Given the description of an element on the screen output the (x, y) to click on. 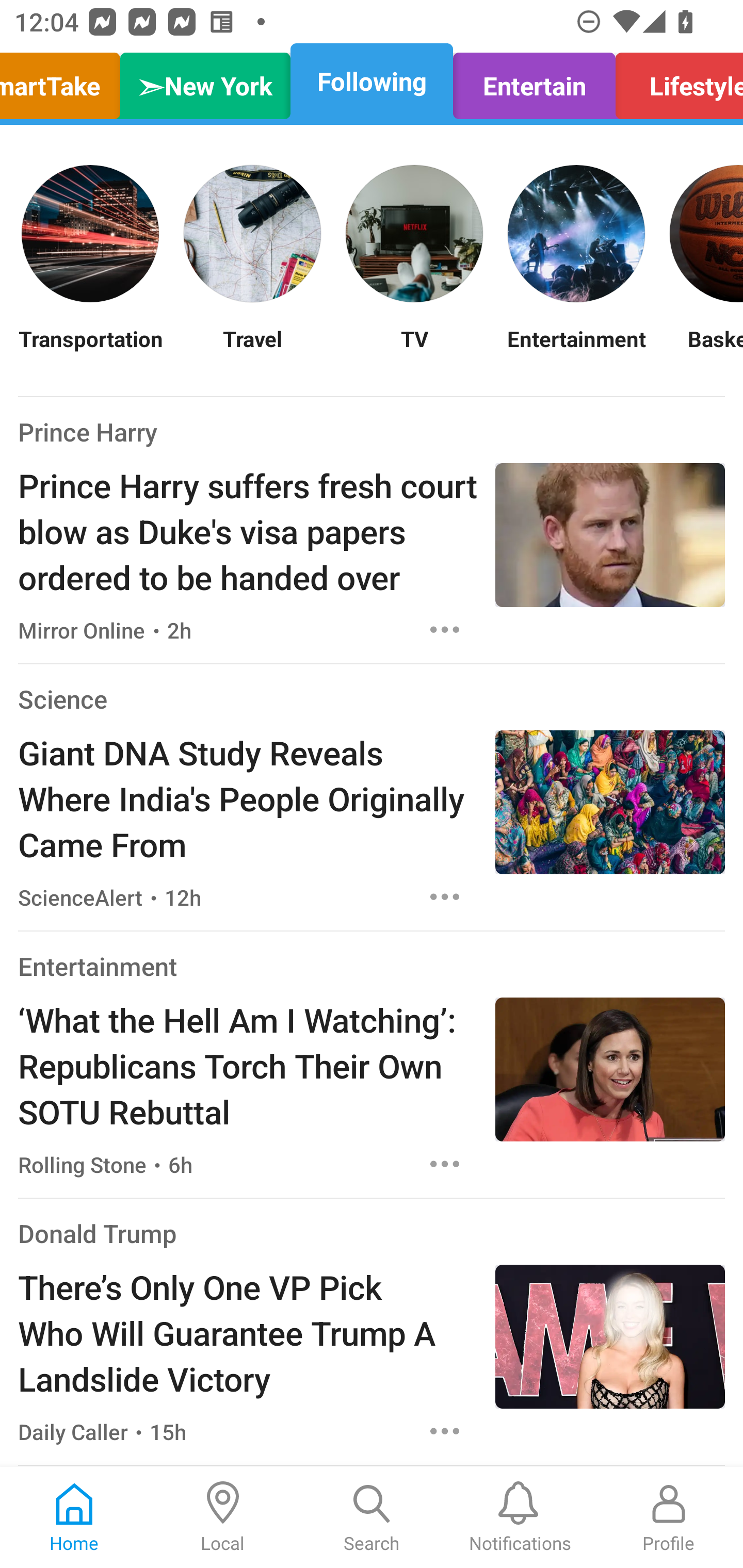
SmartTake (65, 81)
➣New York (205, 81)
Following (371, 81)
Entertain (534, 81)
Transportation (89, 350)
Travel (251, 350)
TV (413, 350)
Entertainment (575, 350)
Prince Harry (87, 430)
Options (444, 629)
Science (61, 699)
Options (444, 896)
Entertainment (97, 965)
Options (444, 1164)
Donald Trump (97, 1232)
Options (444, 1431)
Local (222, 1517)
Search (371, 1517)
Notifications (519, 1517)
Profile (668, 1517)
